Given the description of an element on the screen output the (x, y) to click on. 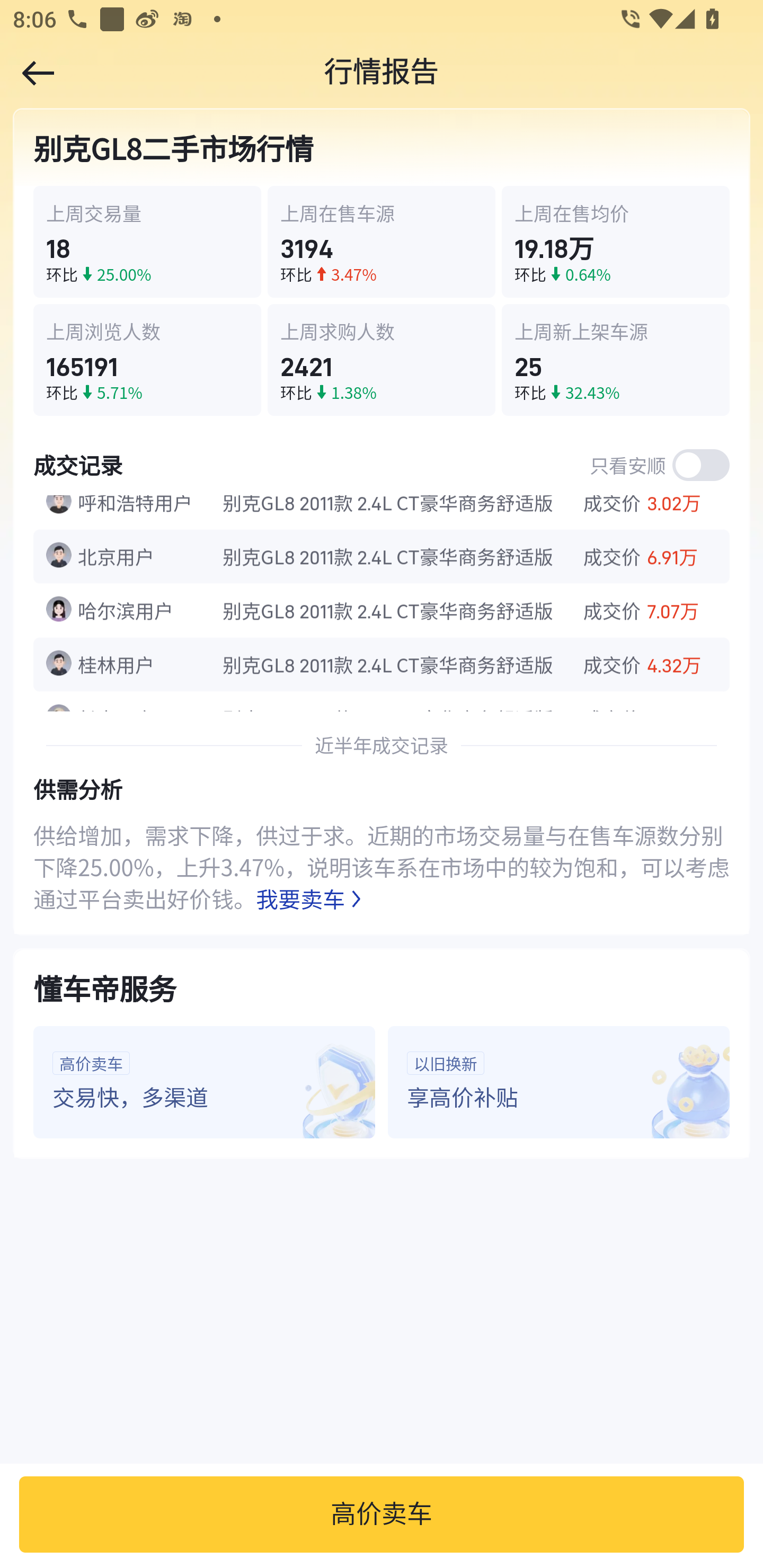
行情报告 (381, 72)
18 环比 25.00 % (147, 242)
上周在售车源 上周在售车源 上周在售车源 3194 环比 3.47 % (381, 242)
上周在售均价 上周在售均价 19.18万 环比 0.64 % (614, 242)
上周在售车源 上周在售车源 上周在售车源 (381, 213)
上周在售均价 (615, 213)
165191 环比 5.71 % (147, 360)
上周求购人数 上周求购人数 上周求购人数 2421 环比 1.38 % (381, 360)
上周新上架车源 上周新上架车源 25 环比 32.43 % (614, 360)
上周求购人数 上周求购人数 上周求购人数 (381, 331)
上周新上架车源 (615, 331)
我要卖车 (311, 898)
高价卖车 交易快，多渠道 (204, 1082)
以旧换新 享高价补贴 (558, 1082)
高价卖车 (381, 1514)
